Given the description of an element on the screen output the (x, y) to click on. 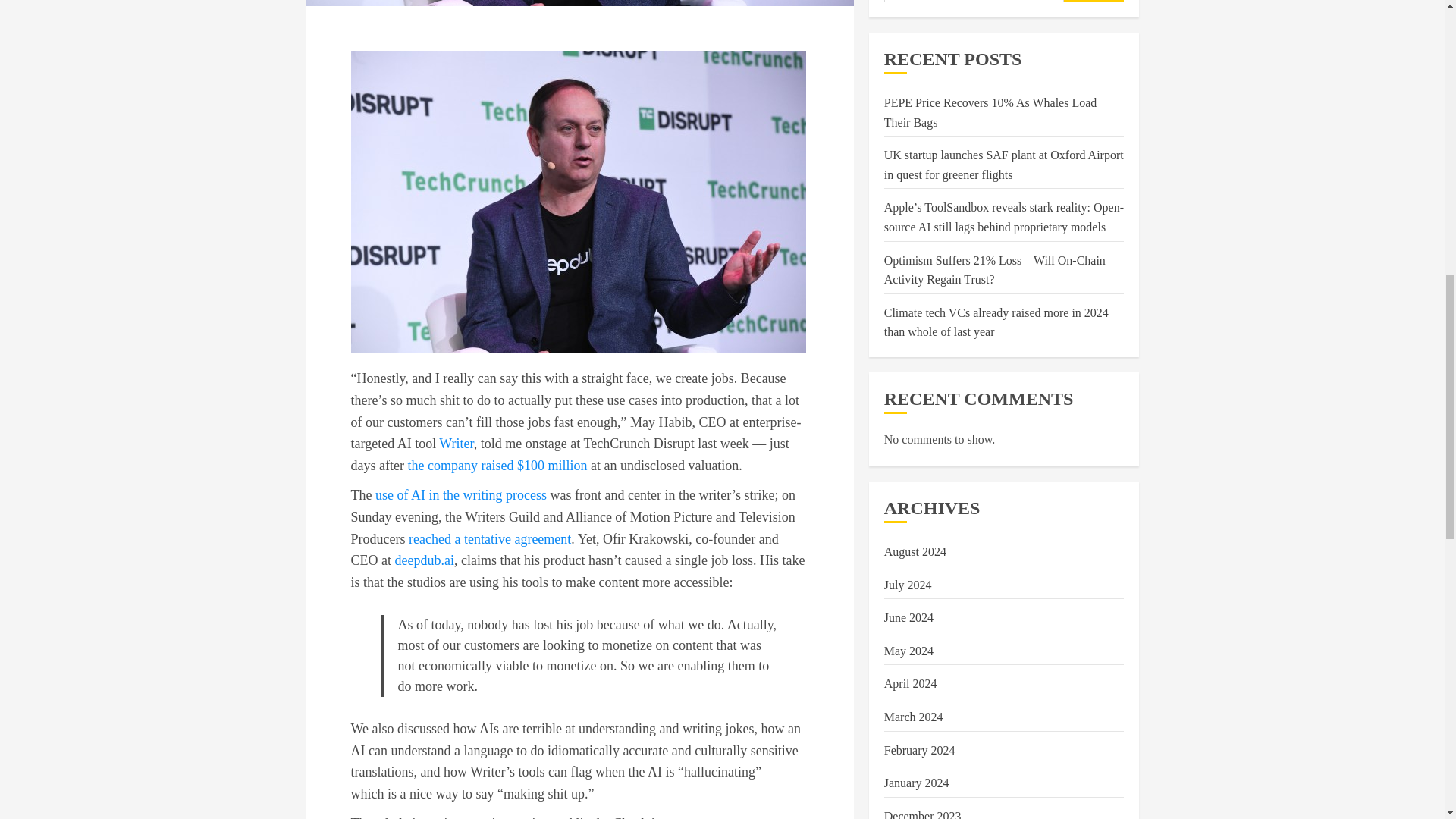
reached a tentative agreement (489, 538)
deepdub.ai (423, 560)
Writer (456, 443)
use of AI in the writing process (461, 494)
